Given the description of an element on the screen output the (x, y) to click on. 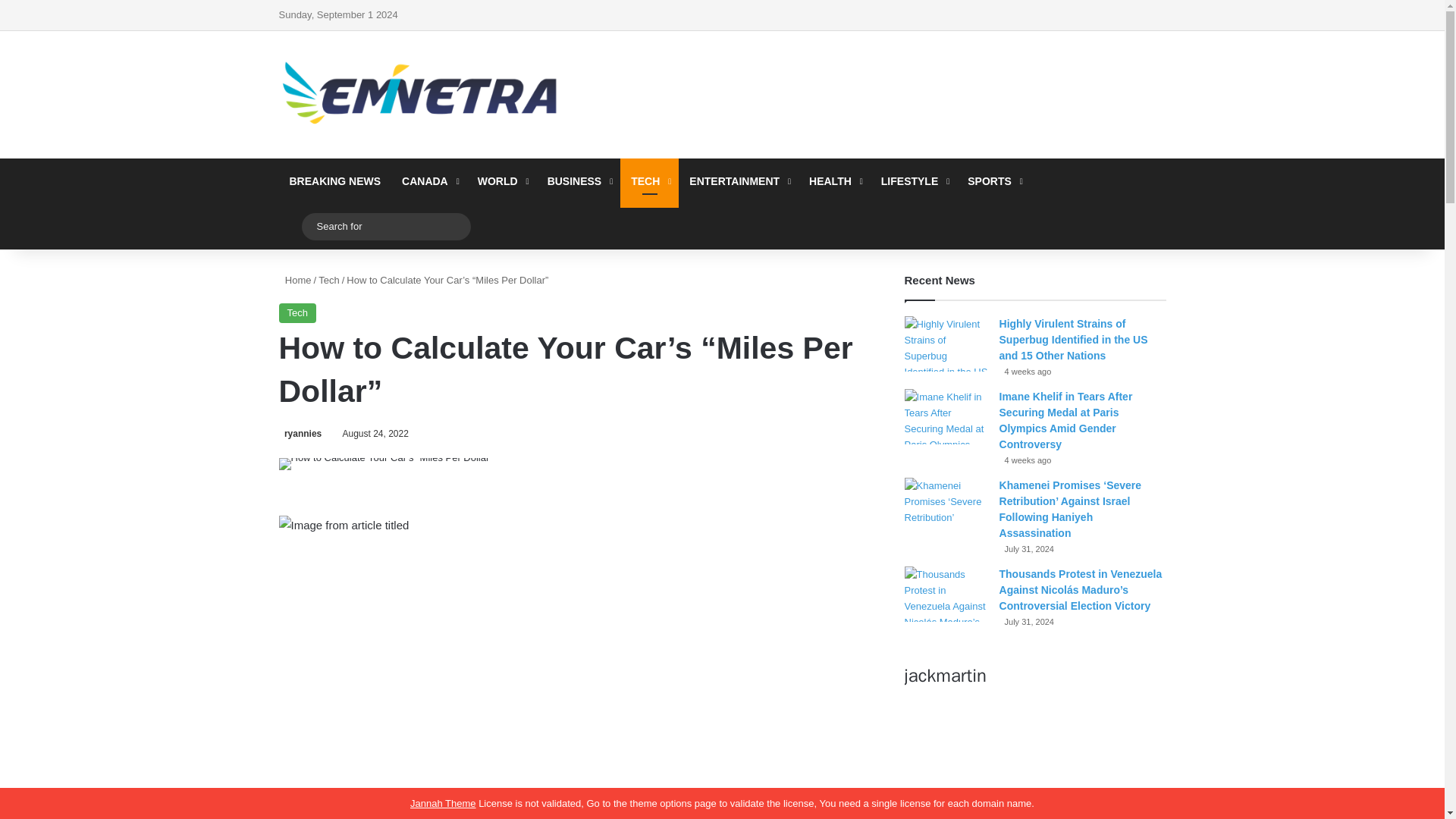
Search for (454, 225)
WORLD (502, 180)
Tech (328, 279)
ryannies (300, 433)
Search for (385, 225)
Home (295, 279)
ENTERTAINMENT (737, 180)
ryannies (300, 433)
Jannah Theme (443, 803)
LIFESTYLE (913, 180)
